Given the description of an element on the screen output the (x, y) to click on. 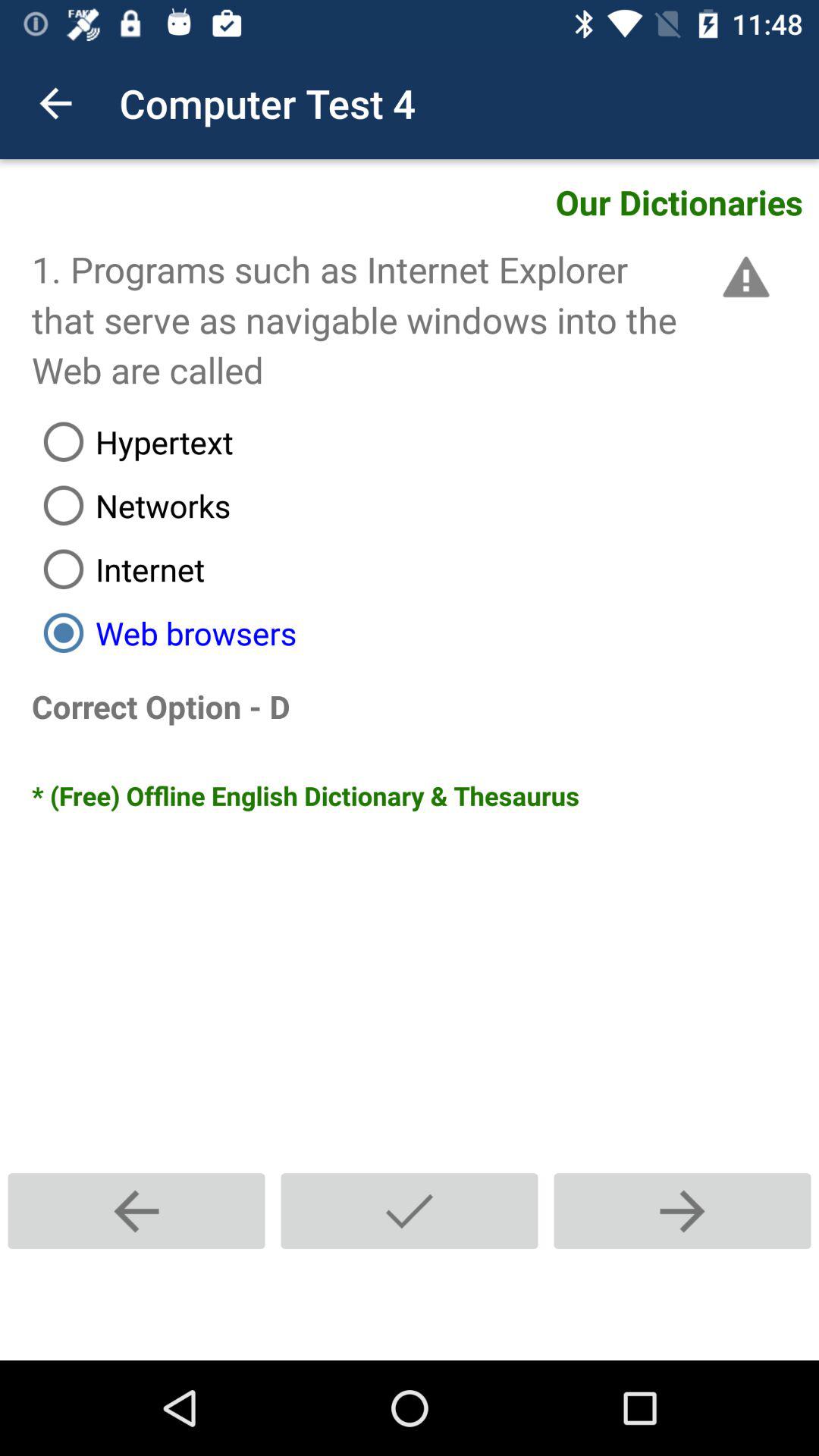
flip until our dictionaries (425, 202)
